Given the description of an element on the screen output the (x, y) to click on. 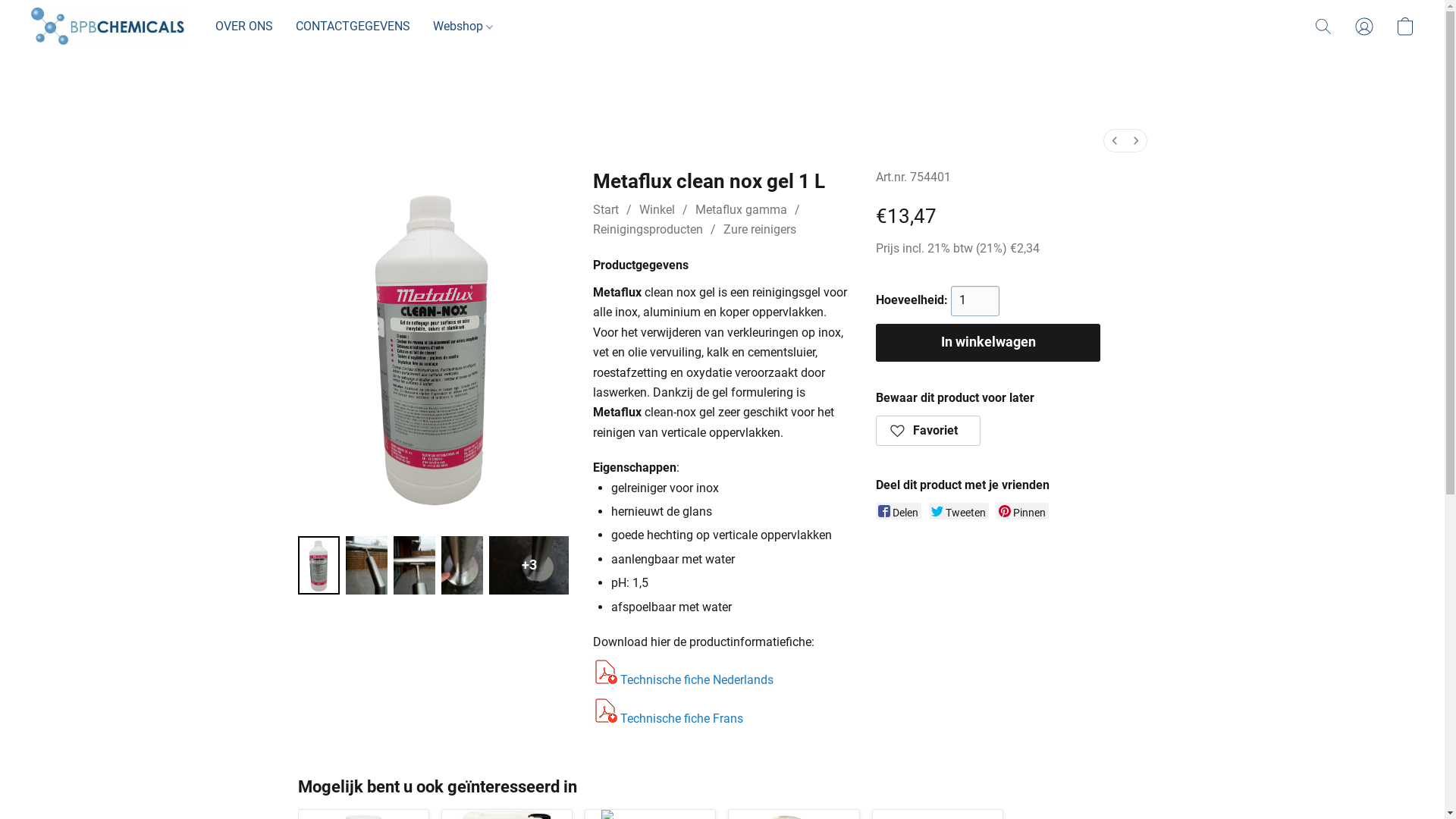
Favoriet Element type: text (927, 430)
Metaflux clean nox gel 1 L Element type: hover (432, 347)
CONTACTGEGEVENS Element type: text (352, 26)
Pinnen Element type: text (1022, 510)
Webshop Element type: text (457, 26)
Technische fiche Frans Element type: text (681, 718)
Start Element type: text (605, 209)
Zure reinigers Element type: text (759, 229)
Technische fiche Nederlands Element type: text (696, 679)
Reinigingsproducten Element type: text (700, 239)
Tweeten Element type: text (958, 510)
Winkel Element type: text (656, 209)
Metaflux gamma Element type: text (741, 209)
Delen Element type: text (898, 510)
Zoeken op website Element type: hover (1322, 26)
OVER ONS Element type: text (249, 26)
Ga naar winkelwagen Element type: hover (1404, 26)
In winkelwagen Element type: text (987, 342)
